Given the description of an element on the screen output the (x, y) to click on. 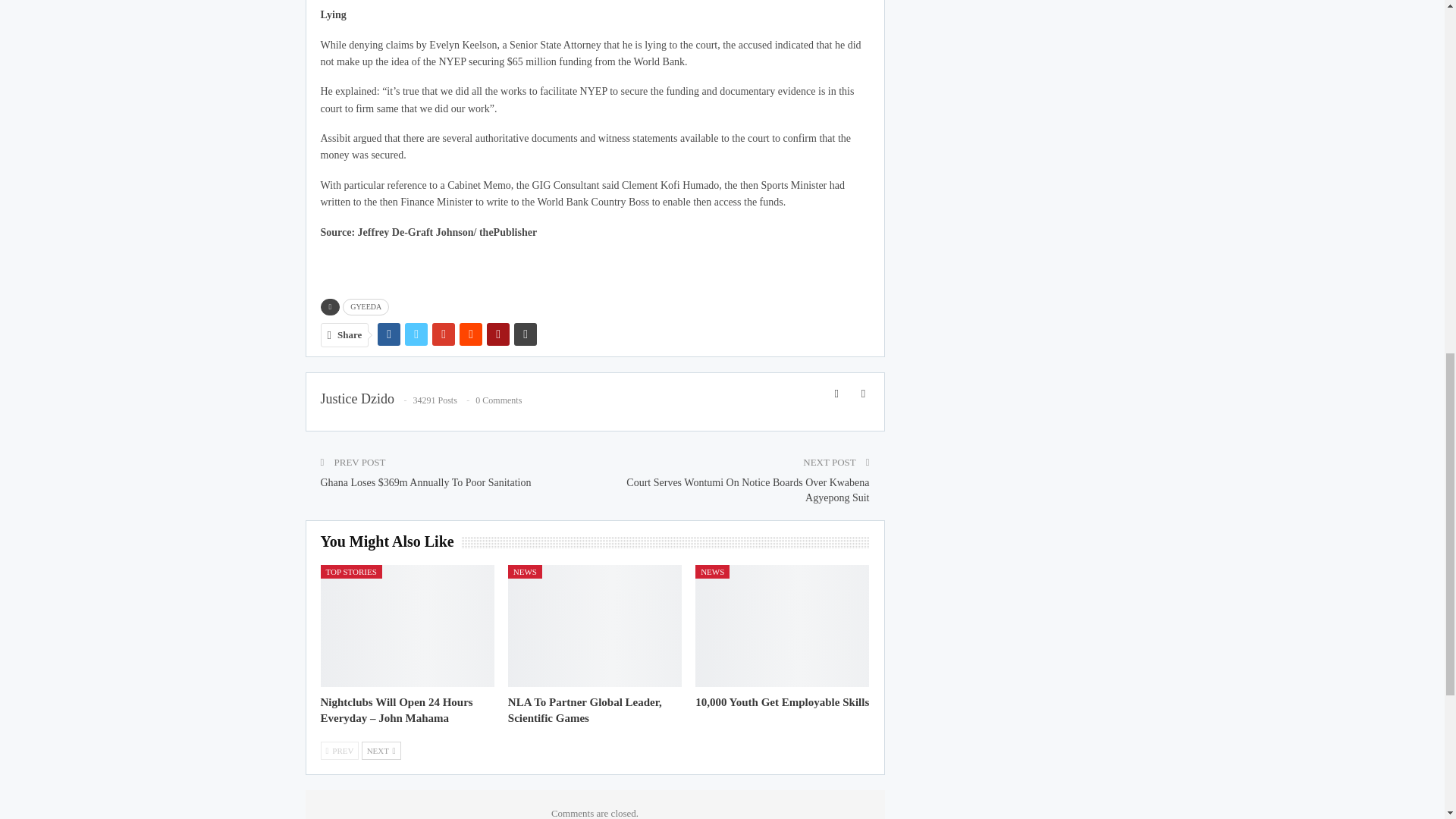
Next (381, 751)
NLA To Partner Global Leader, Scientific Games (585, 709)
10,000 Youth Get Employable Skills (782, 626)
Previous (339, 751)
GYEEDA (365, 306)
NLA To Partner Global Leader, Scientific Games (594, 626)
10,000 Youth Get Employable Skills (782, 702)
